Given the description of an element on the screen output the (x, y) to click on. 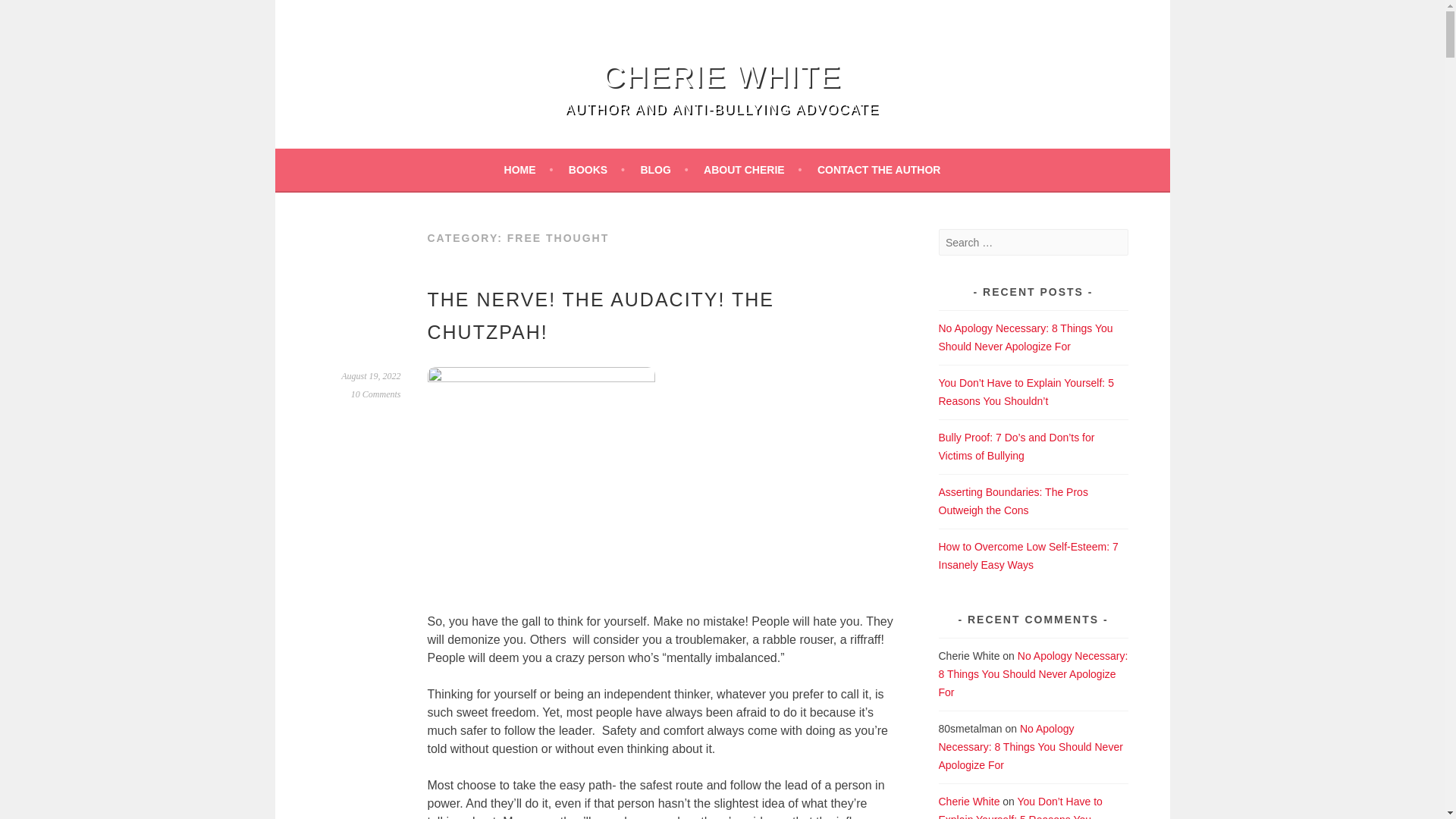
Search (30, 13)
CONTACT THE AUTHOR (878, 169)
BLOG (663, 169)
ABOUT CHERIE (752, 169)
Cherie White (969, 801)
10 Comments (375, 394)
HOME (528, 169)
CHERIE WHITE (721, 76)
BOOKS (596, 169)
THE NERVE! THE AUDACITY! THE CHUTZPAH! (601, 316)
Asserting Boundaries: The Pros Outweigh the Cons (1013, 501)
Permalink to The Nerve! The Audacity! The Chutzpah! (370, 376)
Cherie White (721, 76)
